Given the description of an element on the screen output the (x, y) to click on. 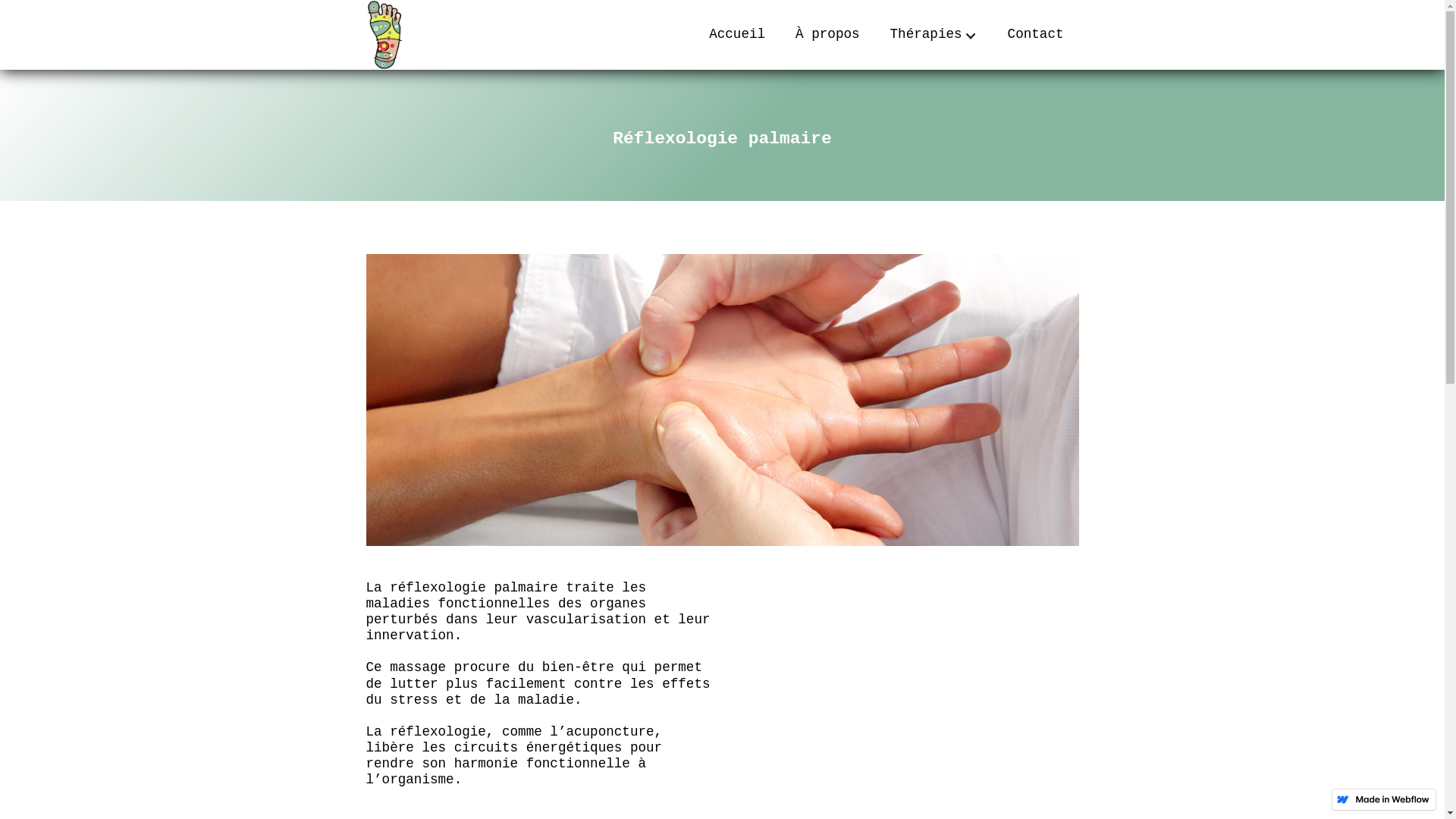
Accueil Element type: text (736, 37)
Contact Element type: text (1035, 37)
